Given the description of an element on the screen output the (x, y) to click on. 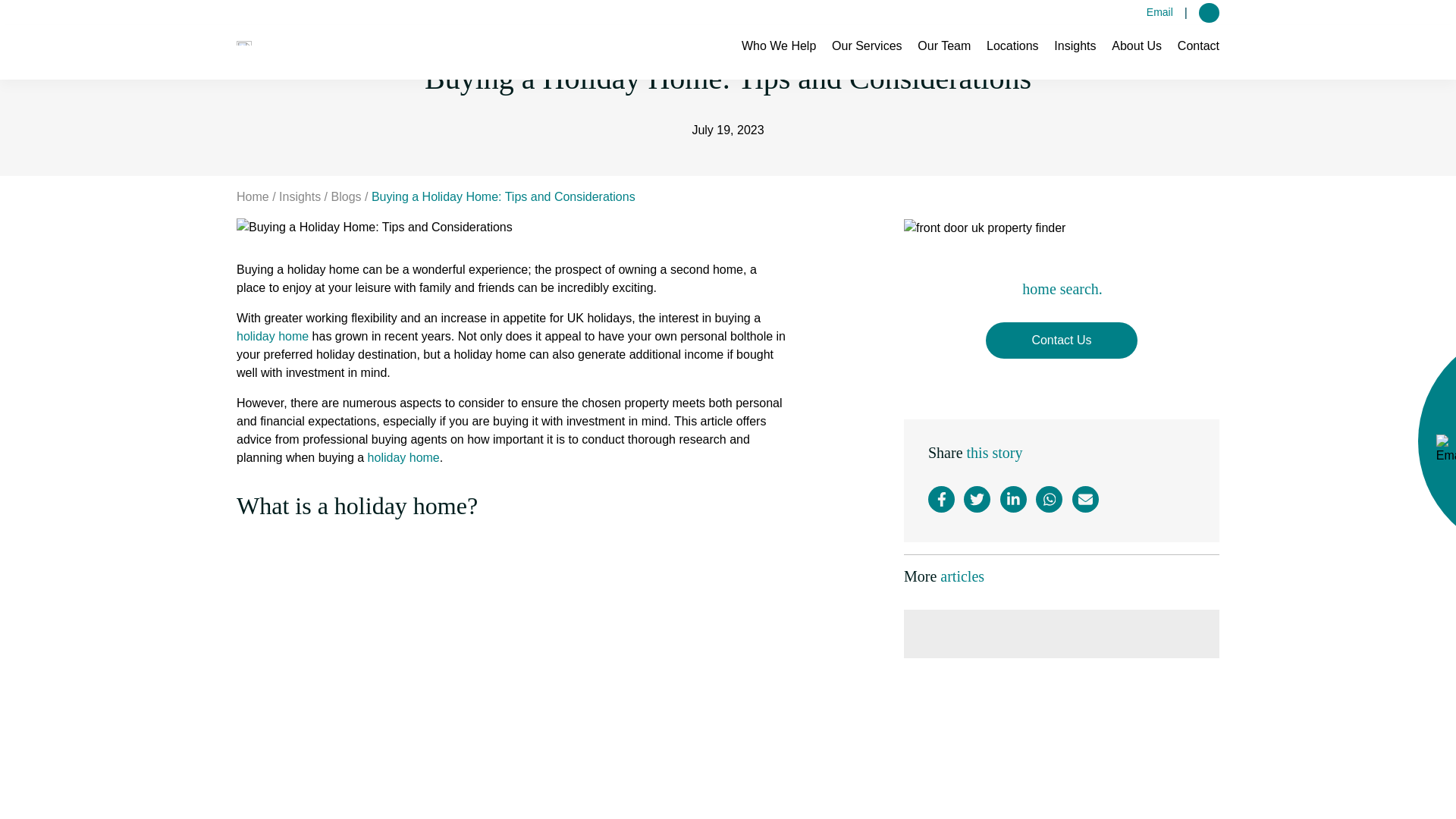
Email (866, 57)
Our Team (778, 57)
